Given the description of an element on the screen output the (x, y) to click on. 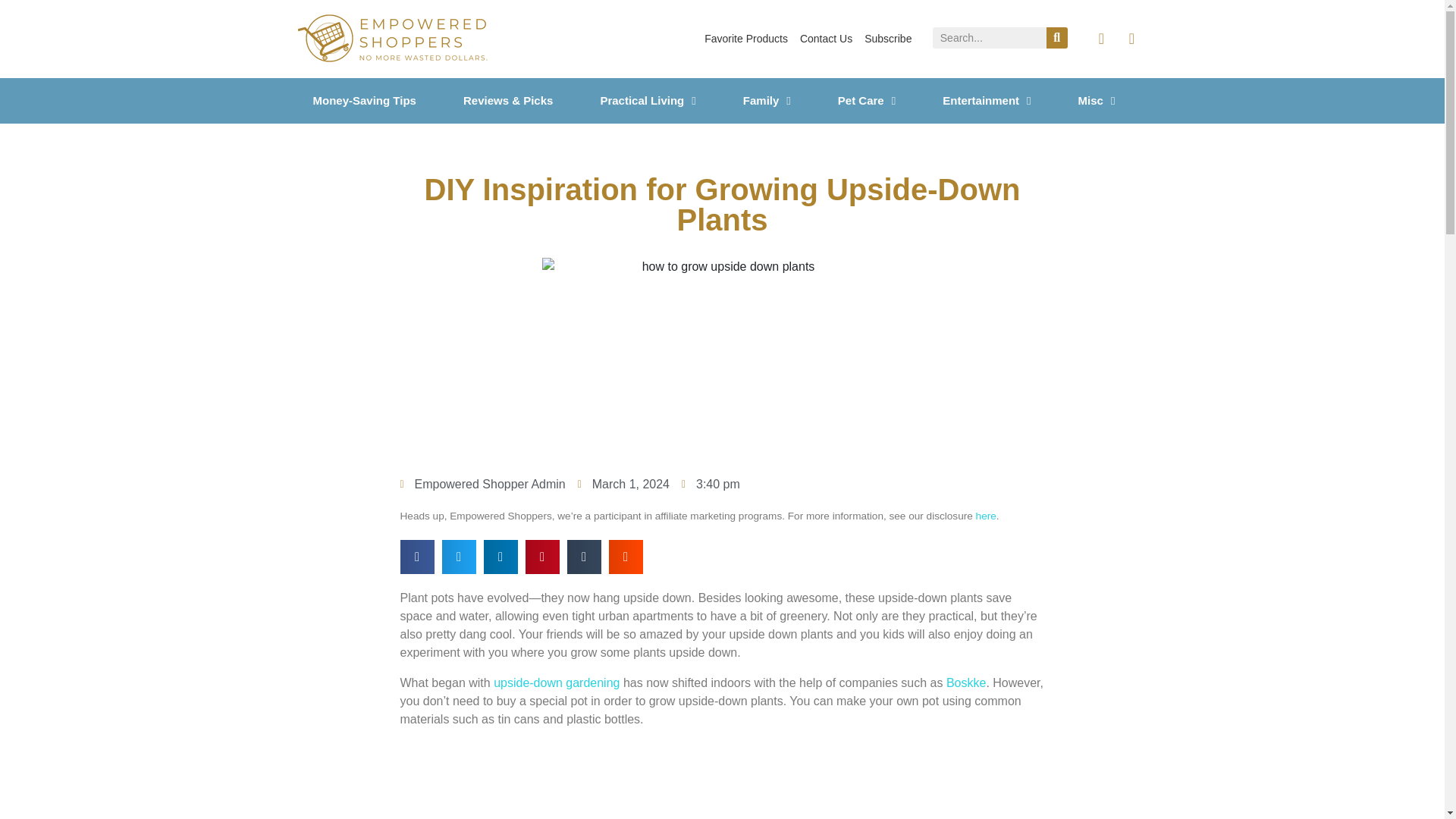
Subscribe (888, 38)
Favorite Products (745, 38)
Money-Saving Tips (380, 100)
Contact Us (826, 38)
Pet Care (881, 100)
Practical Living (663, 100)
Entertainment (1002, 100)
Misc (1112, 100)
Advertisement (722, 780)
Family (782, 100)
